Given the description of an element on the screen output the (x, y) to click on. 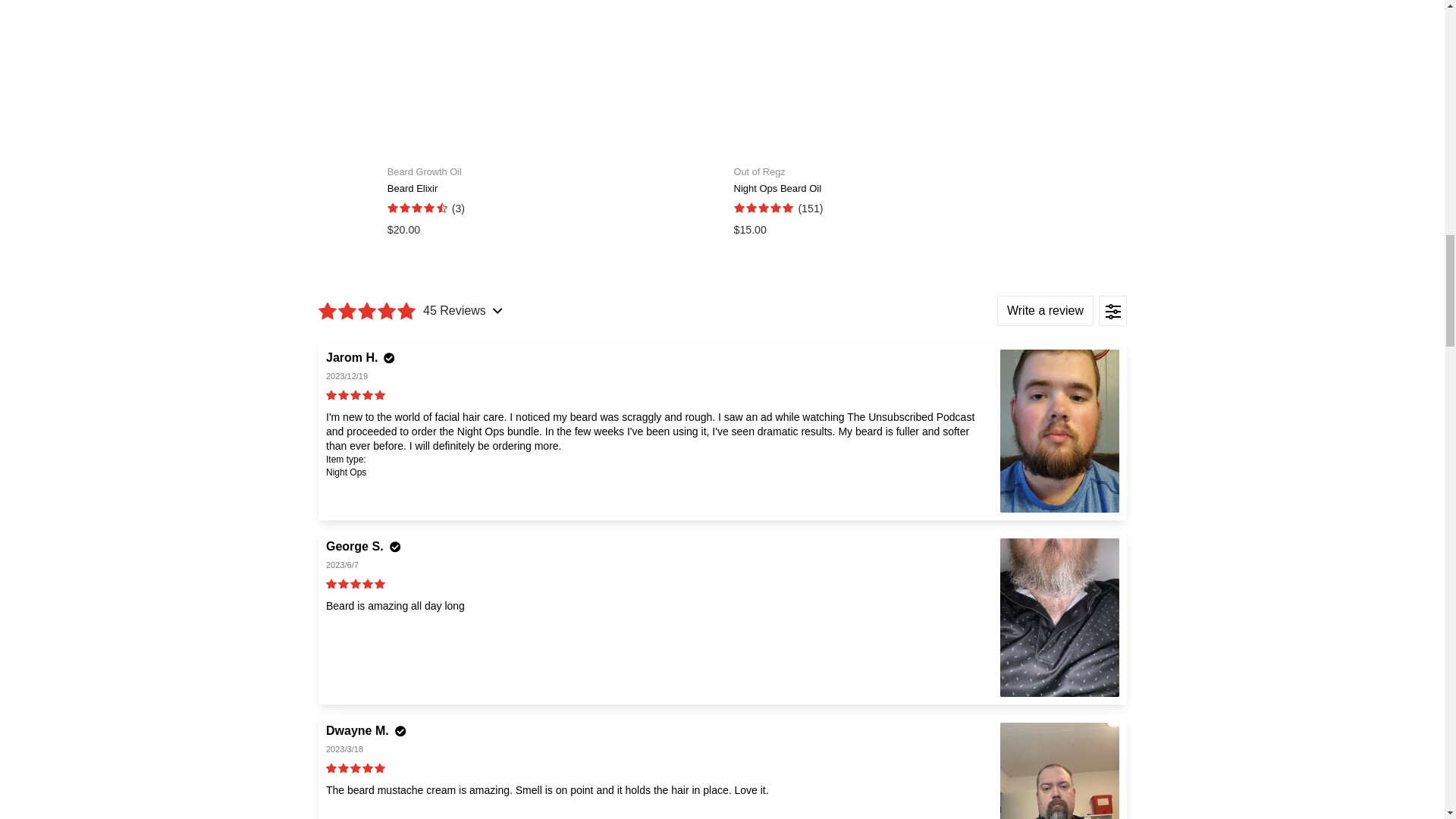
Beard Elixir (549, 229)
Night Ops Beard Oil (895, 229)
Night Ops Beard Oil (895, 181)
Beard Elixir (549, 181)
